Given the description of an element on the screen output the (x, y) to click on. 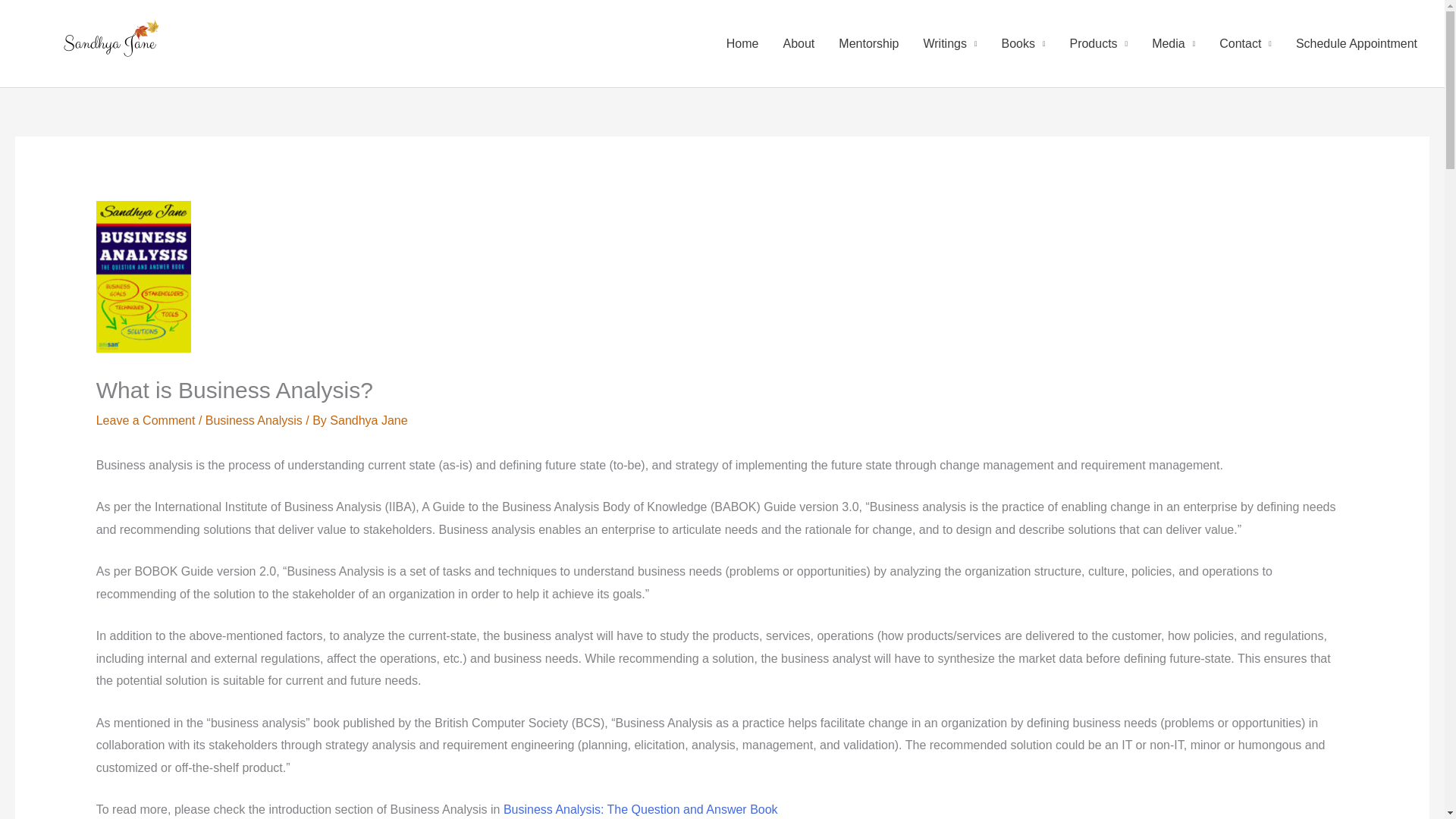
Books (1022, 43)
Mentorship (869, 43)
Products (1098, 43)
Contact (1245, 43)
Writings (949, 43)
Schedule Appointment (1356, 43)
Business Analysis: The Question and Answer Book (640, 809)
Sandhya Jane (368, 420)
Leave a Comment (145, 420)
View all posts by Sandhya Jane (368, 420)
Business Analysis (253, 420)
Media (1173, 43)
About (798, 43)
Home (742, 43)
